Given the description of an element on the screen output the (x, y) to click on. 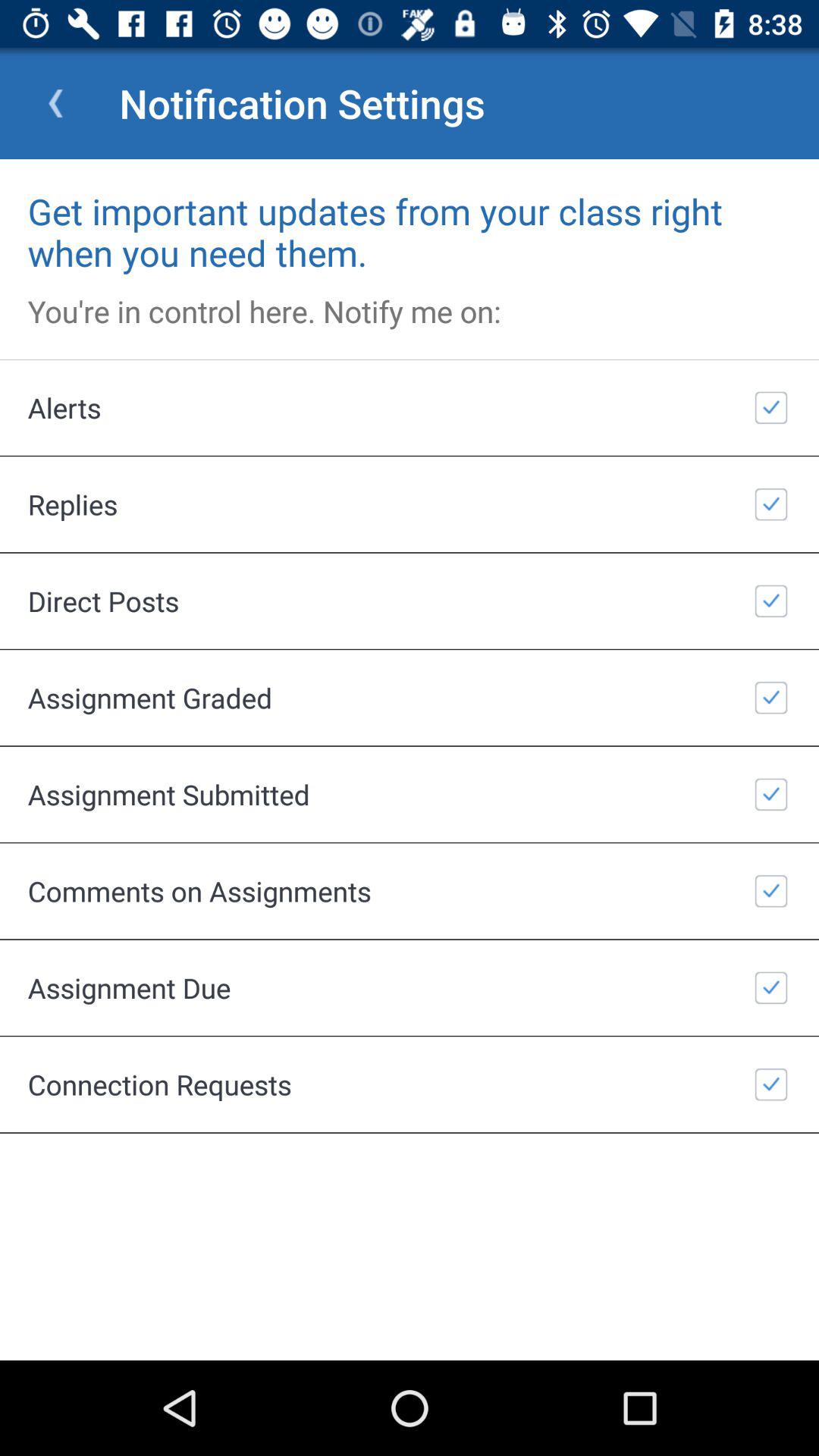
choose the item above the assignment submitted item (409, 697)
